Given the description of an element on the screen output the (x, y) to click on. 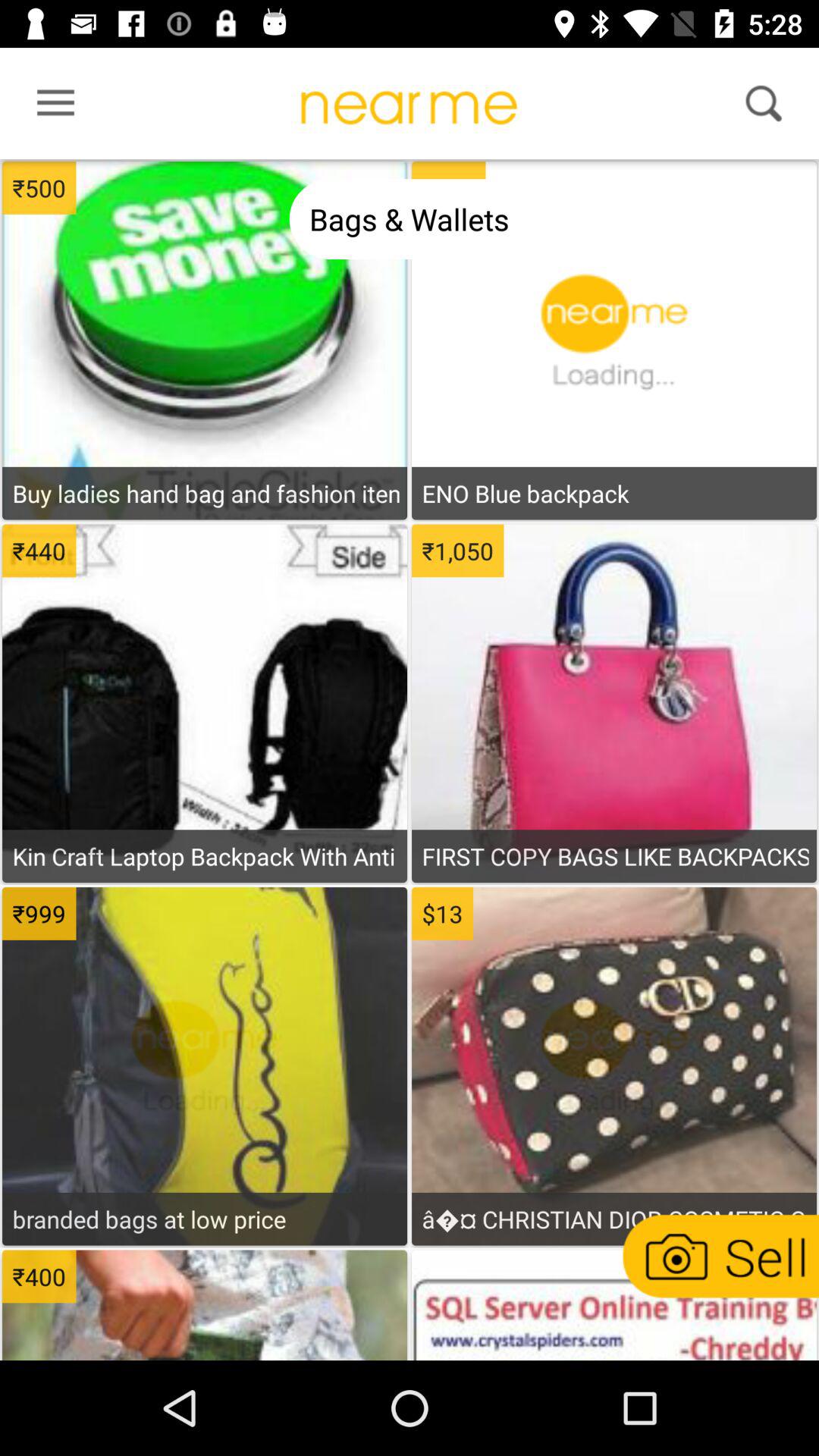
view product information (613, 1087)
